Given the description of an element on the screen output the (x, y) to click on. 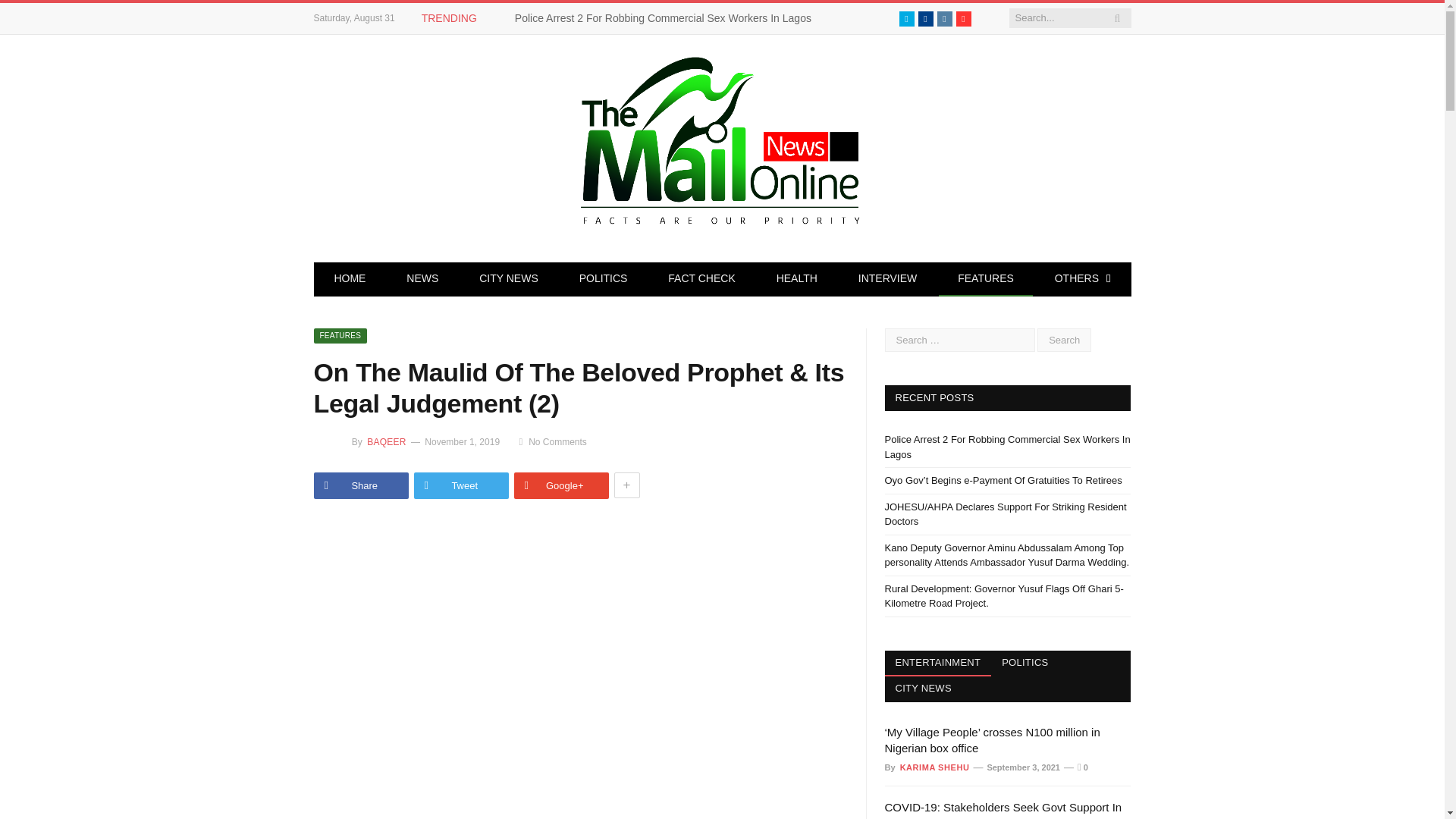
YouTube (963, 18)
Twitter (906, 18)
Posts by Baqeer (385, 441)
Search (1063, 340)
Instagram (944, 18)
NEWS (422, 279)
Share (361, 485)
Instagram (944, 18)
FEATURES (985, 279)
HEALTH (796, 279)
